Given the description of an element on the screen output the (x, y) to click on. 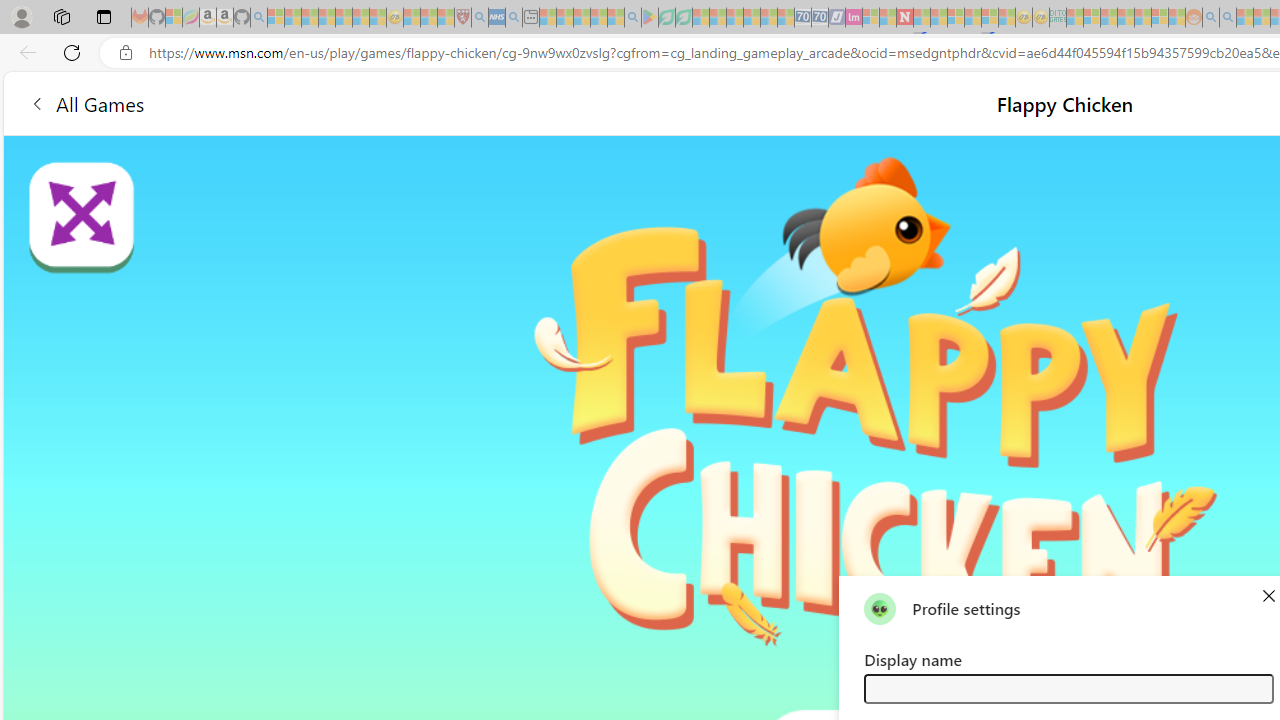
Class: text-input (1068, 688)
All Games (373, 102)
